Given the description of an element on the screen output the (x, y) to click on. 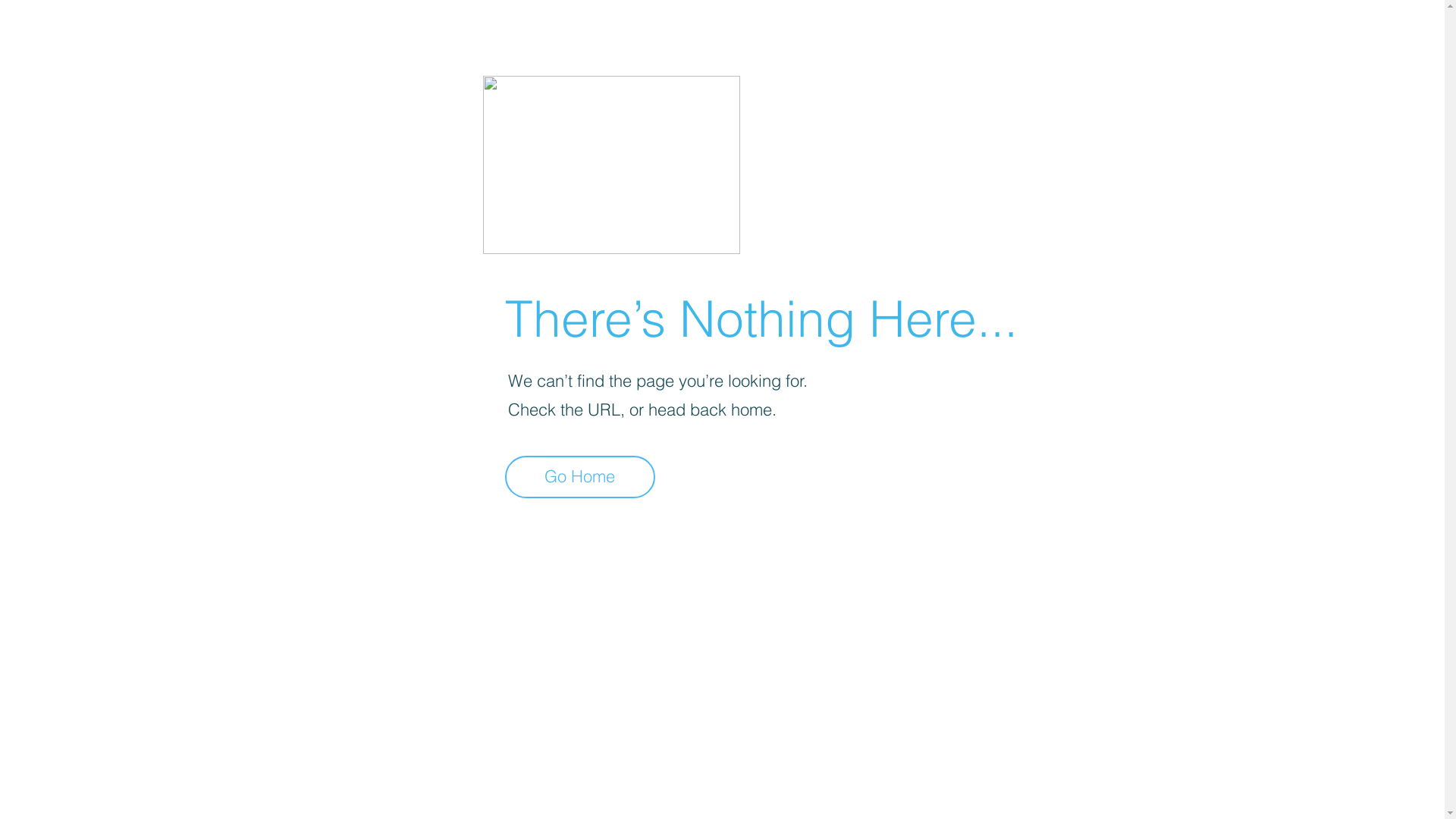
404-icon_2.png Element type: hover (610, 164)
Go Home Element type: text (580, 476)
